Given the description of an element on the screen output the (x, y) to click on. 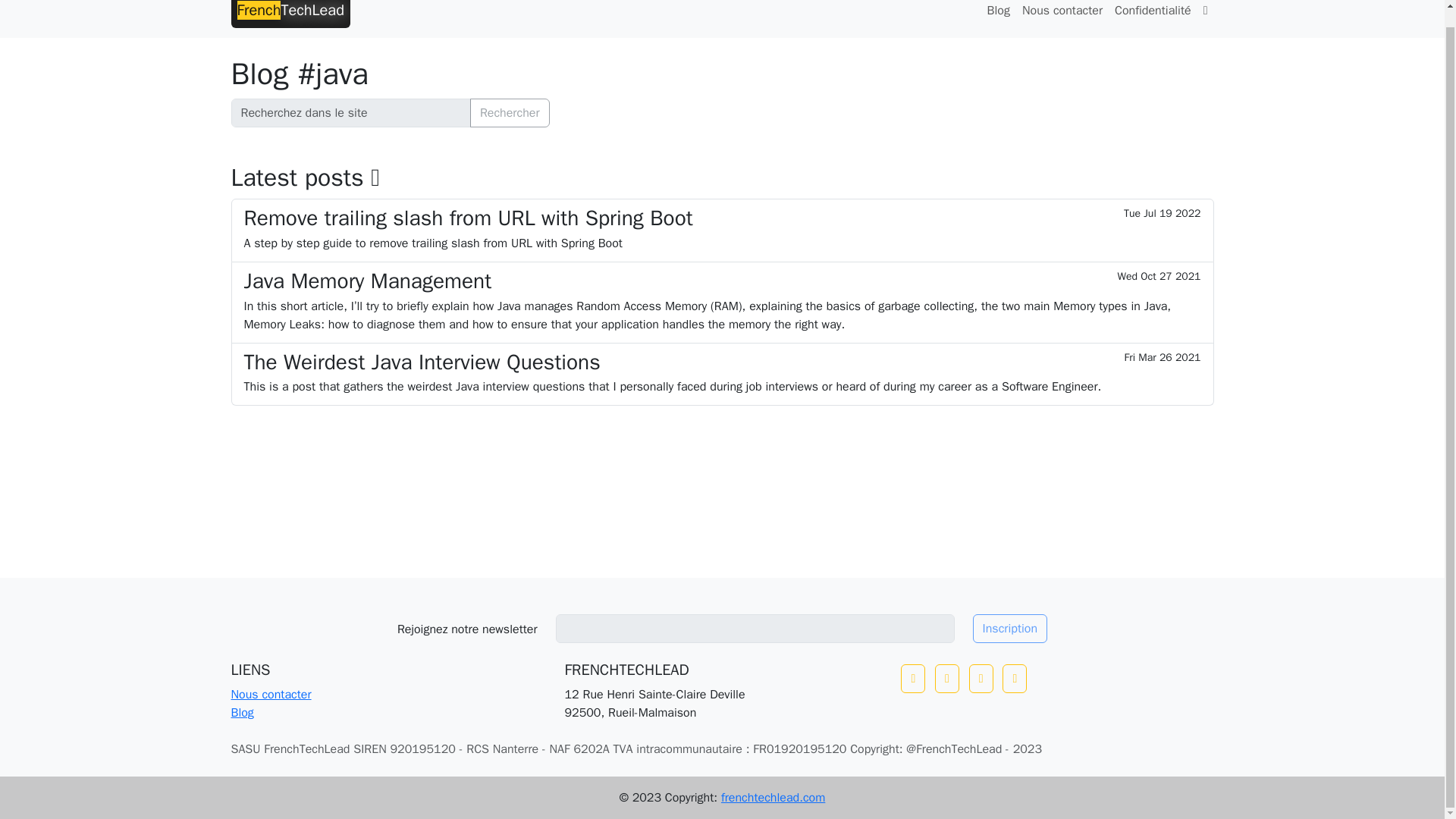
Blog (241, 712)
Rechercher (510, 112)
Blog (998, 12)
FrenchTechLead (289, 15)
Nous contacter (1062, 12)
Inscription (1010, 628)
frenchtechlead.com (772, 797)
Nous contacter (270, 694)
